Given the description of an element on the screen output the (x, y) to click on. 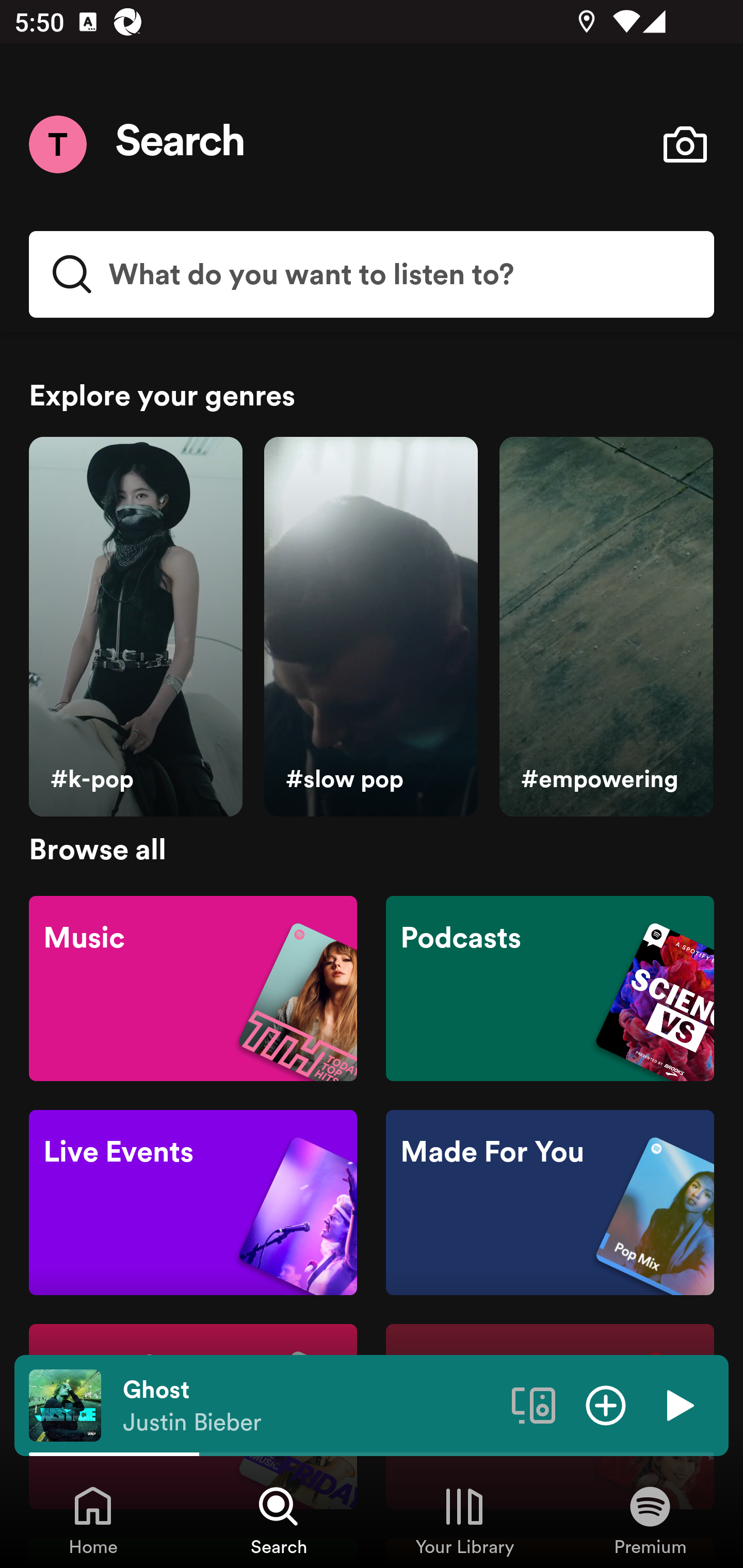
Menu (57, 144)
Open camera (685, 145)
Search (180, 144)
#k-pop (135, 626)
#slow pop (370, 626)
#empowering (606, 626)
Music (192, 987)
Podcasts (549, 987)
Live Events (192, 1202)
Made For You (549, 1202)
Ghost Justin Bieber (309, 1405)
The cover art of the currently playing track (64, 1404)
Connect to a device. Opens the devices menu (533, 1404)
Add item (605, 1404)
Play (677, 1404)
Home, Tab 1 of 4 Home Home (92, 1519)
Search, Tab 2 of 4 Search Search (278, 1519)
Your Library, Tab 3 of 4 Your Library Your Library (464, 1519)
Premium, Tab 4 of 4 Premium Premium (650, 1519)
